Given the description of an element on the screen output the (x, y) to click on. 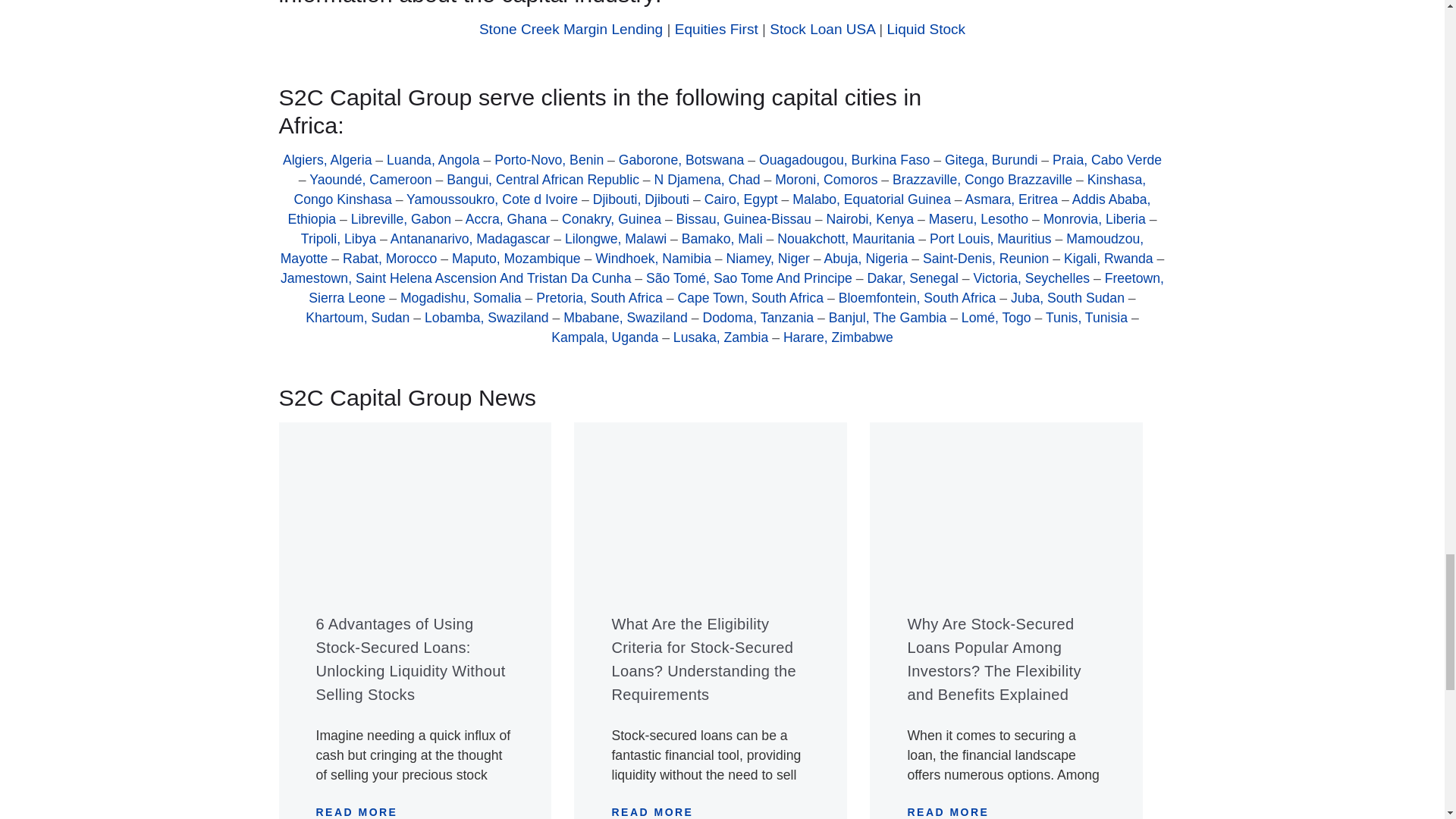
Liquid Stock (925, 28)
Stock Loan USA (822, 28)
Stone Creek Margin Lending (570, 28)
Africa: (722, 125)
Equities First (716, 28)
